Given the description of an element on the screen output the (x, y) to click on. 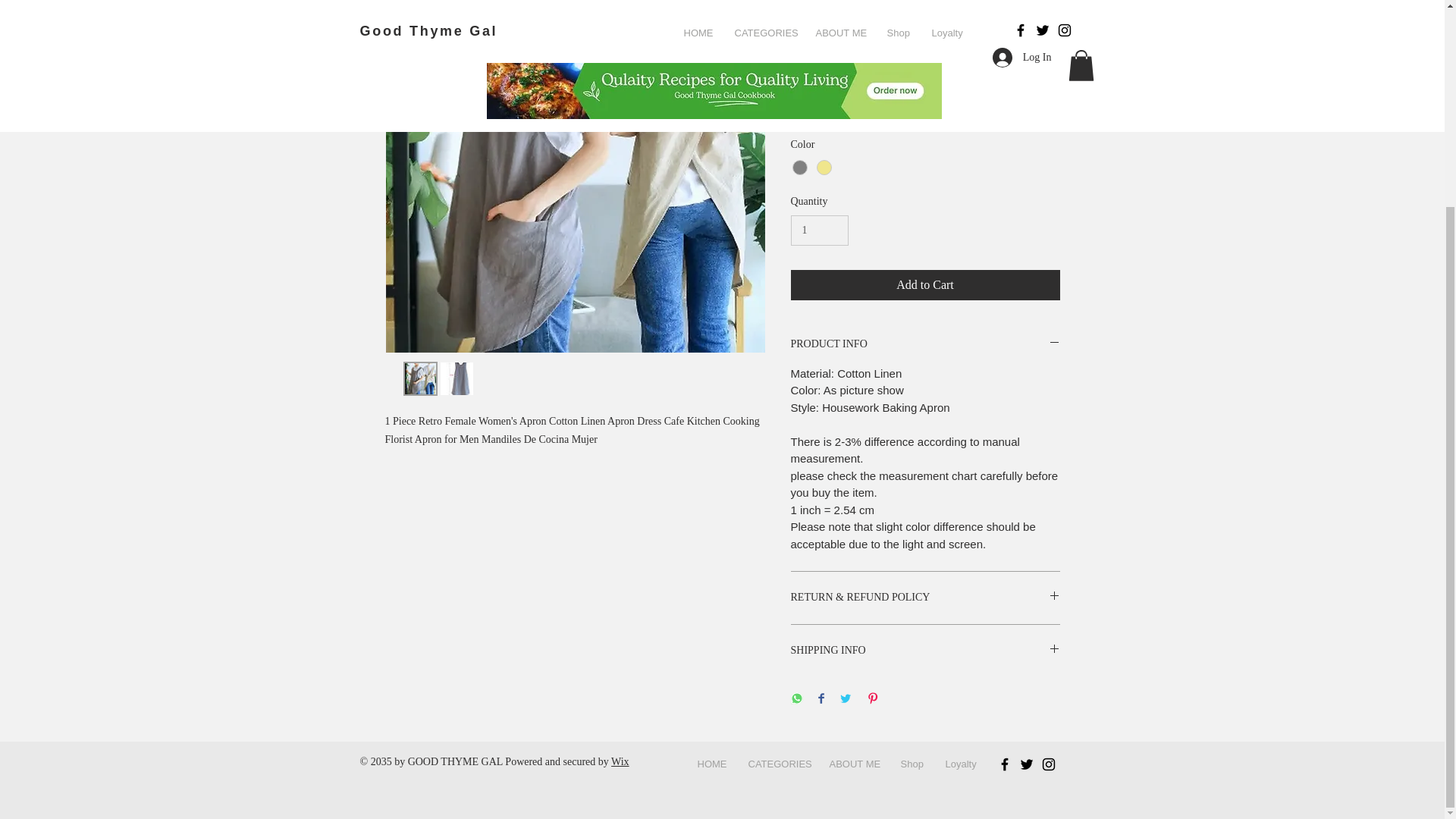
PRODUCT INFO (924, 344)
Large (924, 106)
Wix (619, 761)
Add to Cart (924, 285)
1 (818, 230)
Shop (910, 763)
SHIPPING INFO (924, 650)
Loyalty (960, 763)
ABOUT ME (852, 763)
HOME (710, 763)
